Given the description of an element on the screen output the (x, y) to click on. 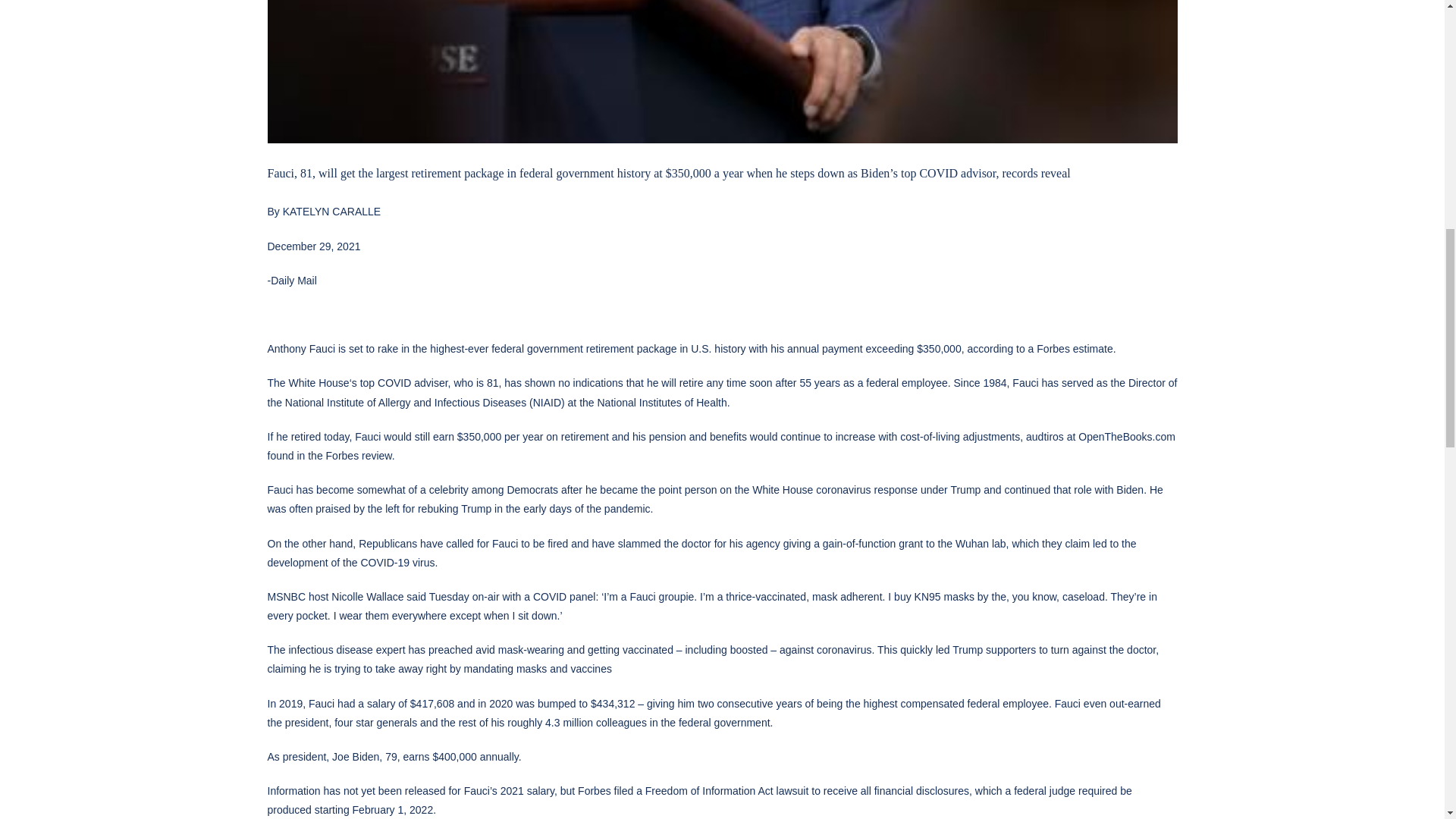
Forbes estimate (1074, 348)
Anthony Fauci (300, 348)
View Larger Image (721, 71)
White House (318, 382)
KATELYN CARALLE (331, 211)
coronavirus (842, 490)
